Given the description of an element on the screen output the (x, y) to click on. 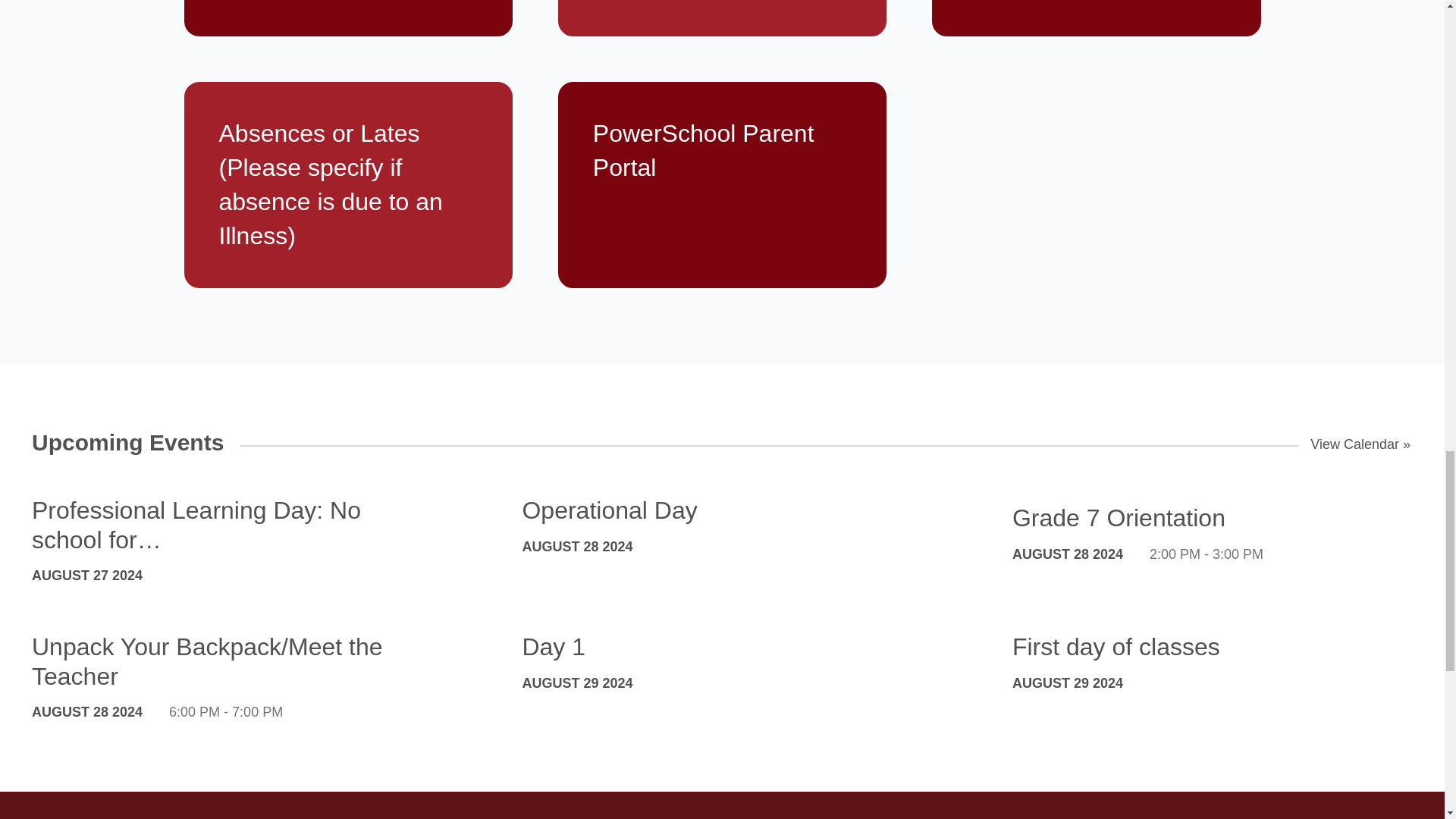
Grade 7 Orientation (1200, 517)
Office Hours (1095, 18)
Operational Day (710, 510)
PowerSchool Parent Portal (721, 184)
Lakeland Ridge 2023-24 School Education Plan (721, 18)
Professional Learning Day: No school for students (220, 525)
